Given the description of an element on the screen output the (x, y) to click on. 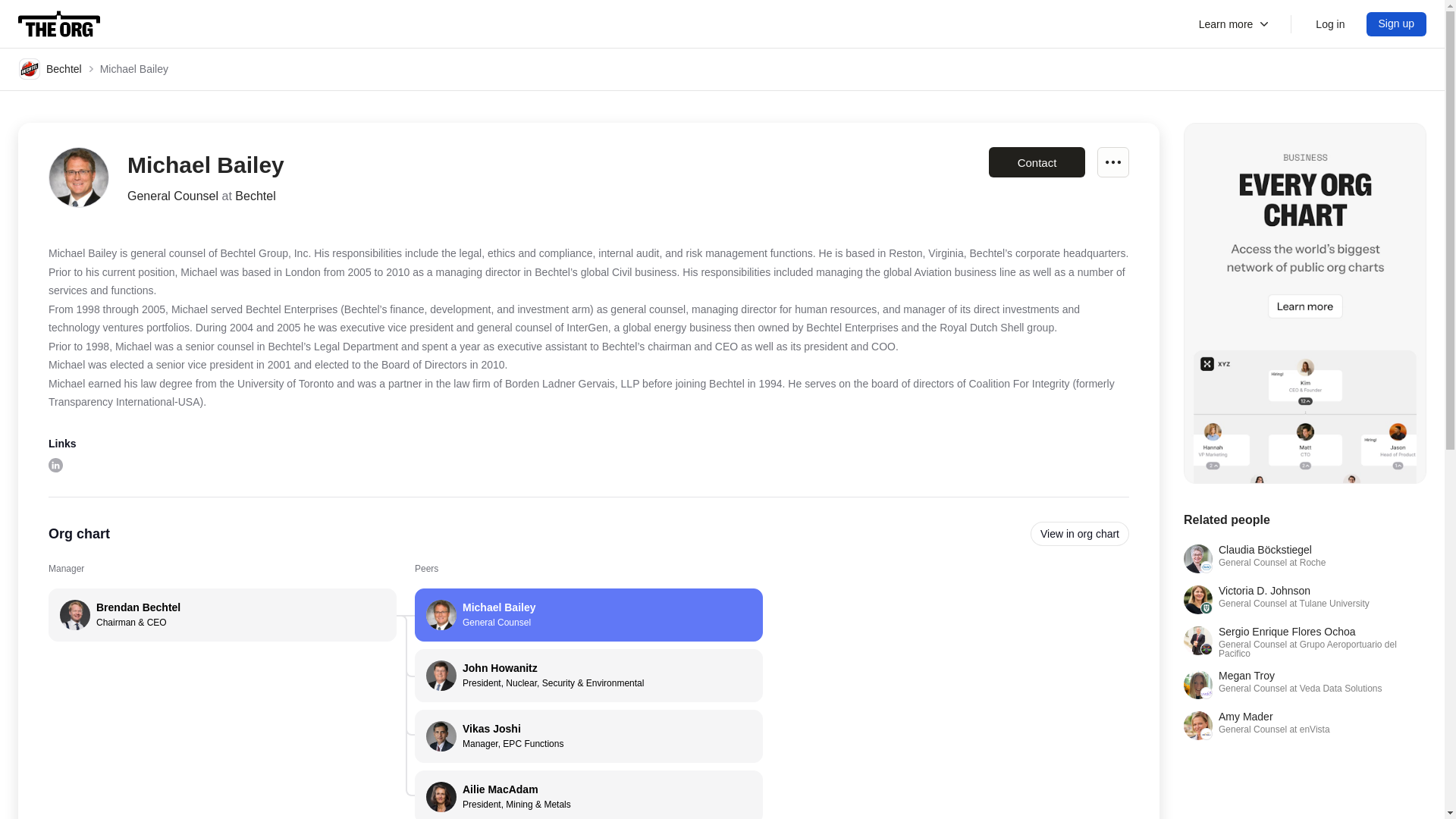
Join, edit and report menu (1113, 162)
Log in (1329, 24)
View on linkedIn (55, 464)
Bechtel (49, 68)
The Org Home (58, 23)
Contact (1036, 162)
Sign up to The Org (588, 614)
Learn more (1304, 725)
View in org chart (1396, 24)
Sign up (1234, 24)
